Given the description of an element on the screen output the (x, y) to click on. 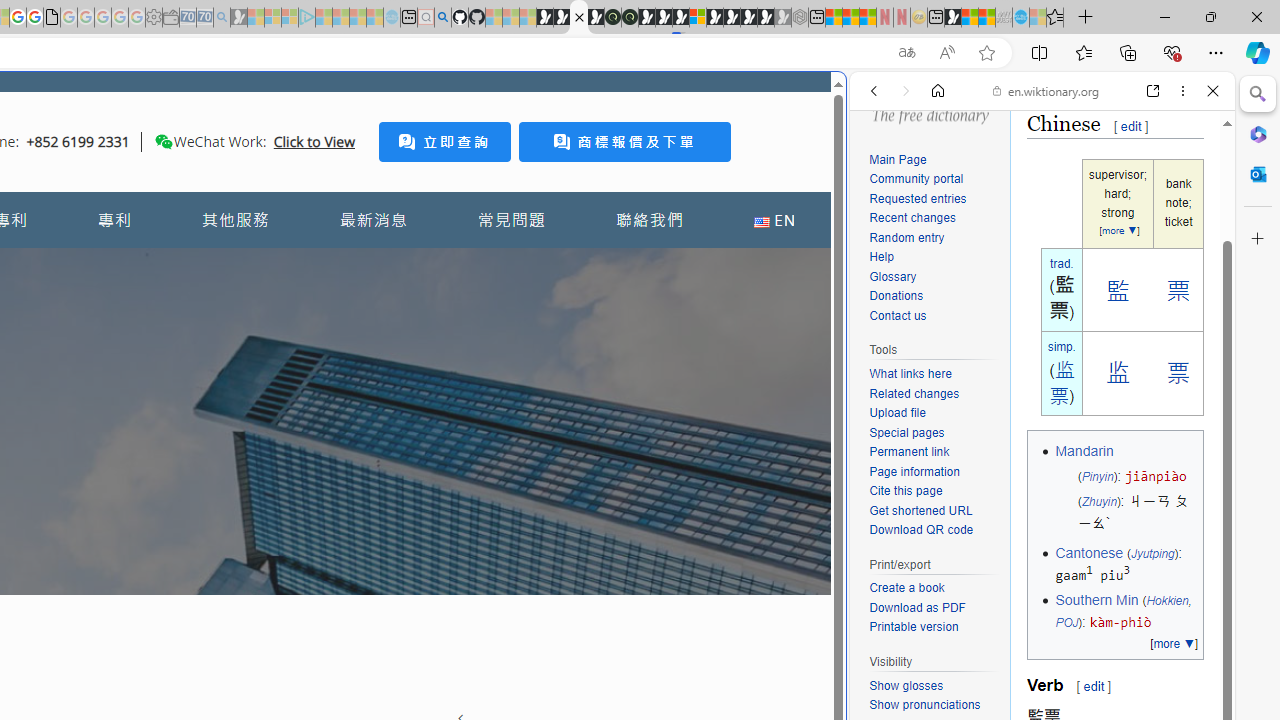
Show glosses (934, 686)
Mandarin (1083, 451)
edit (1093, 686)
Requested entries (917, 197)
Search Filter, IMAGES (939, 228)
